Given the description of an element on the screen output the (x, y) to click on. 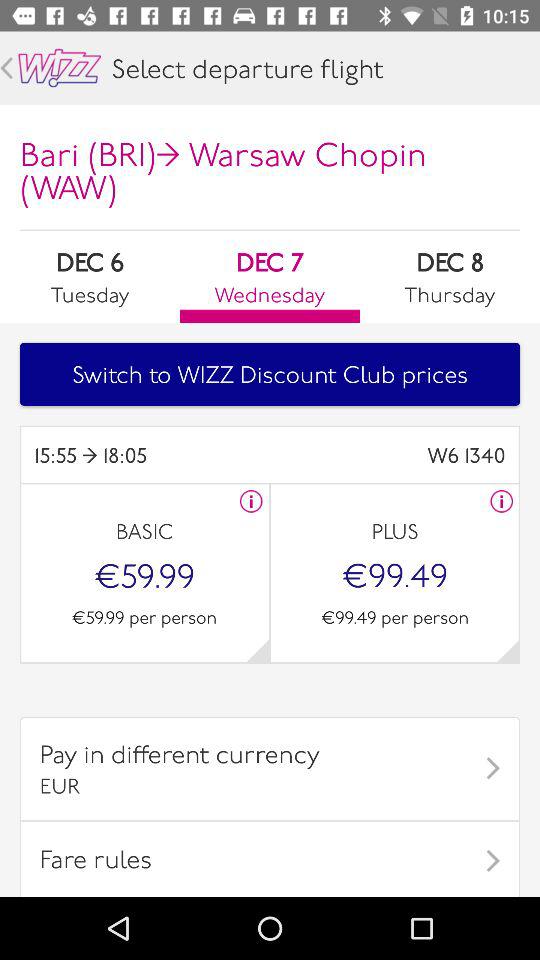
click the icon below switch to wizz icon (387, 454)
